Given the description of an element on the screen output the (x, y) to click on. 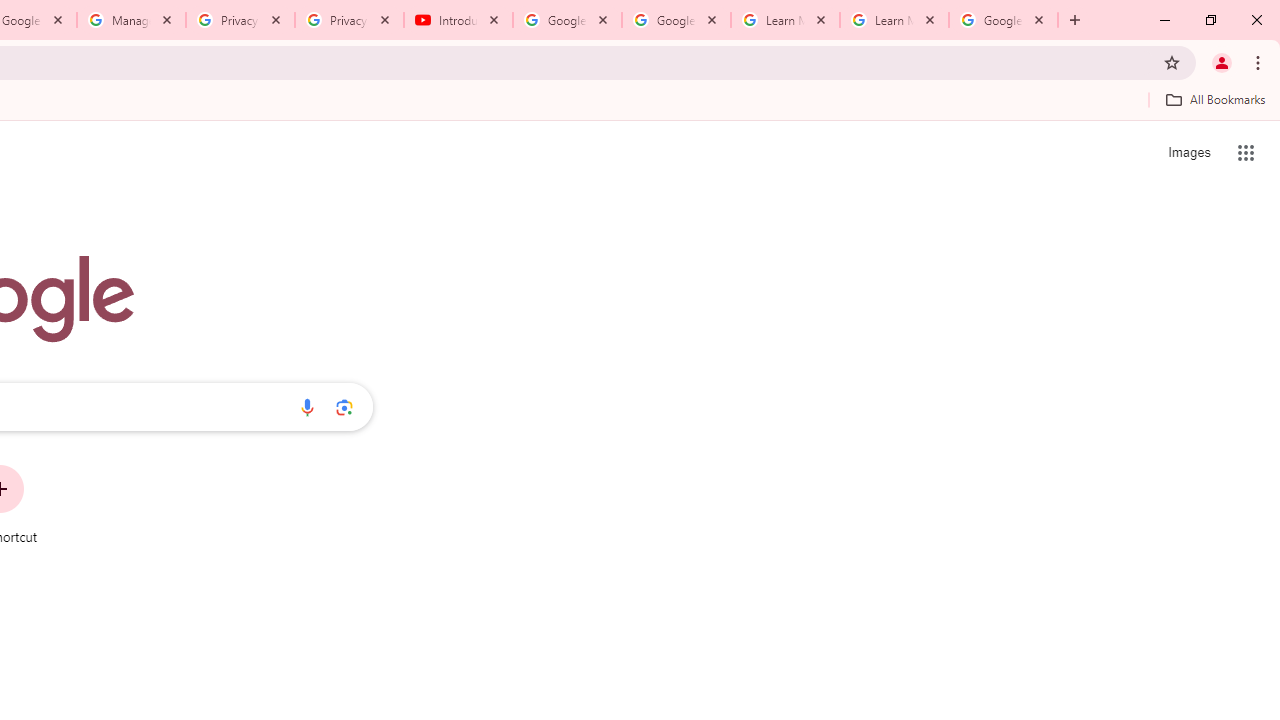
All Bookmarks (1215, 99)
Google Account (1003, 20)
